Given the description of an element on the screen output the (x, y) to click on. 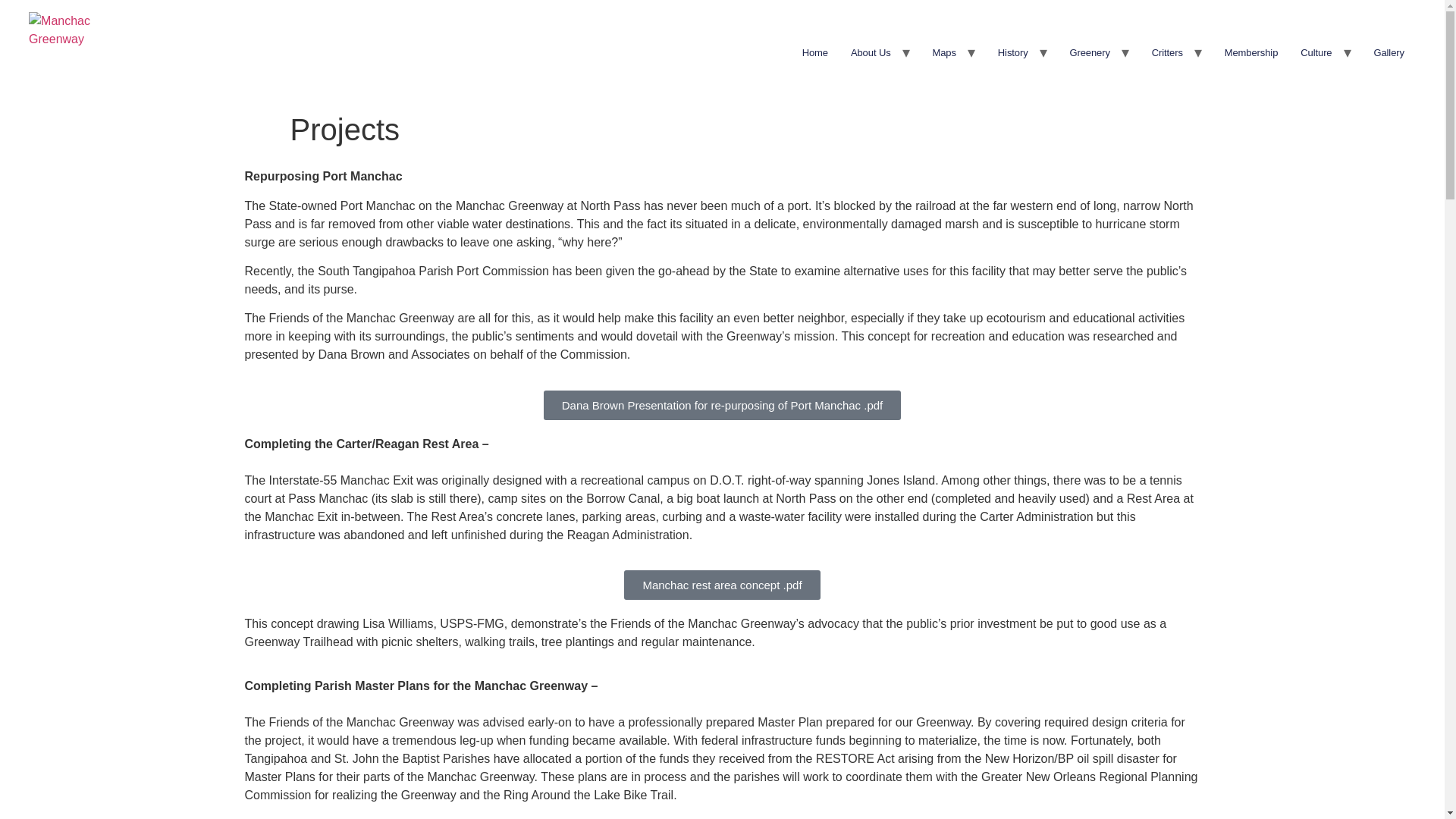
Greenery (1089, 52)
Critters (1166, 52)
Culture (1315, 52)
History (1013, 52)
Home (815, 52)
Maps (944, 52)
About Us (871, 52)
Culture on the Manchac Greenway (1315, 52)
Membership (1251, 52)
